Given the description of an element on the screen output the (x, y) to click on. 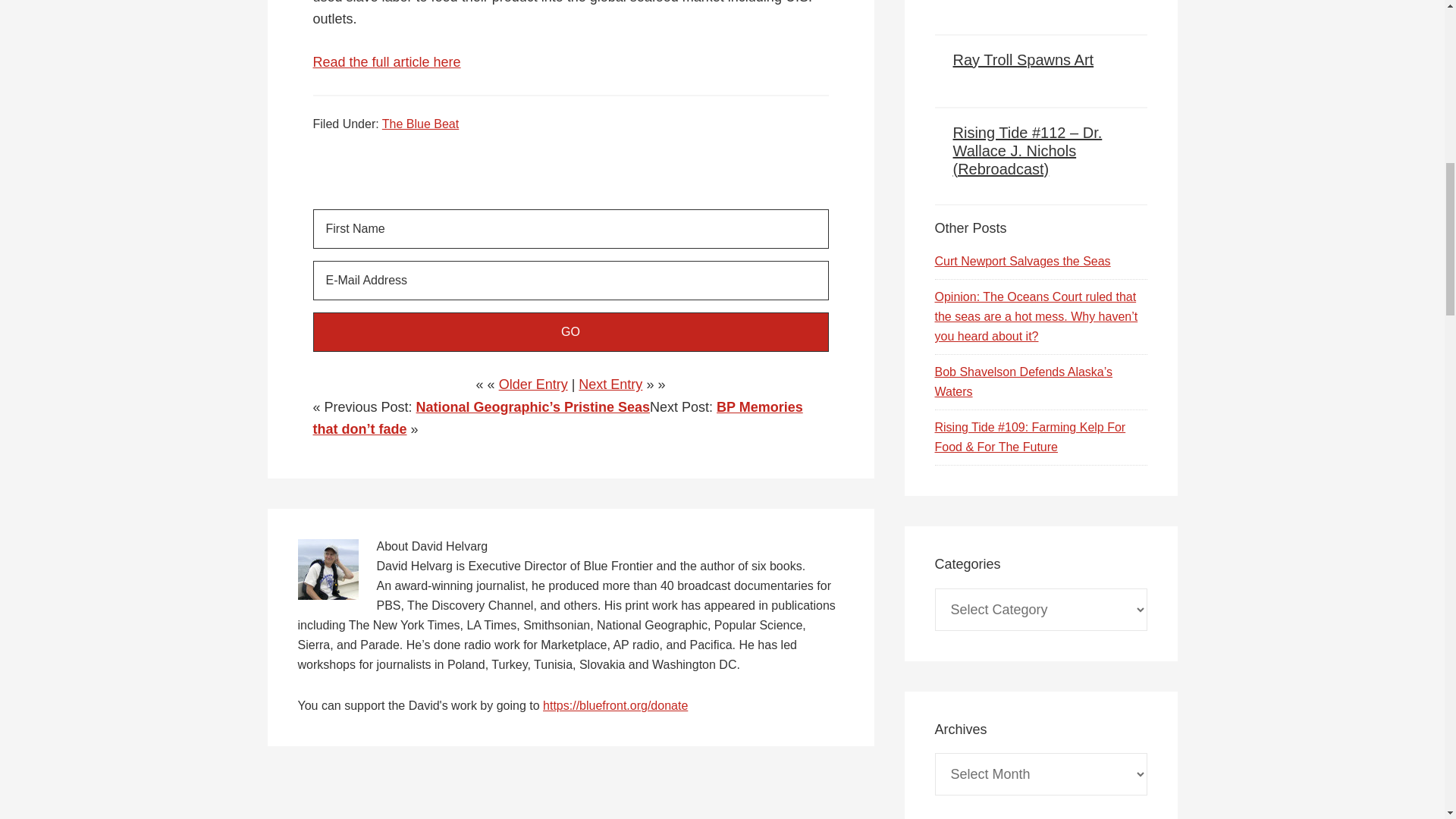
Read the full article here (386, 61)
Go (570, 332)
